Given the description of an element on the screen output the (x, y) to click on. 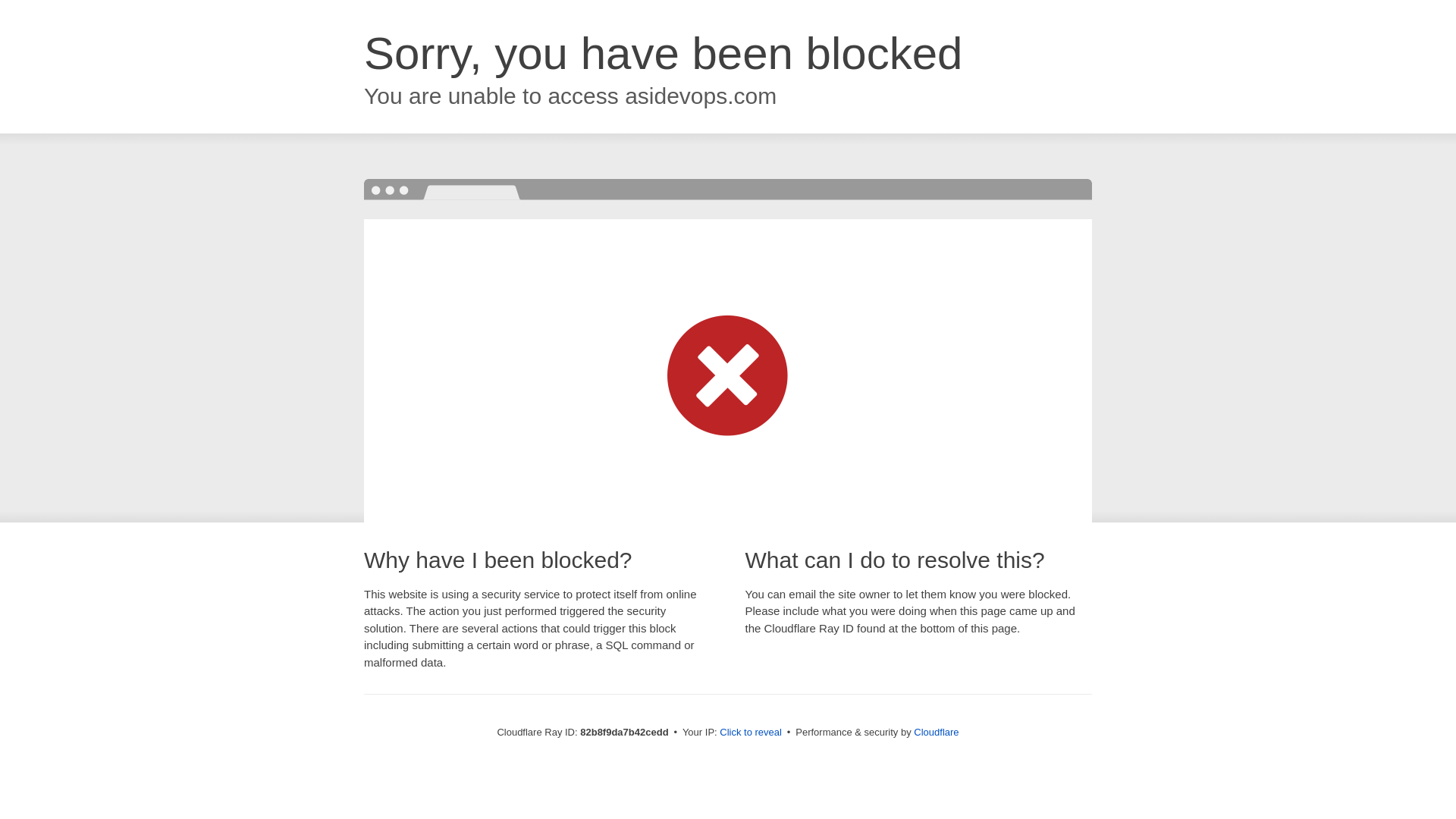
Click to reveal Element type: text (750, 732)
Cloudflare Element type: text (935, 731)
